Given the description of an element on the screen output the (x, y) to click on. 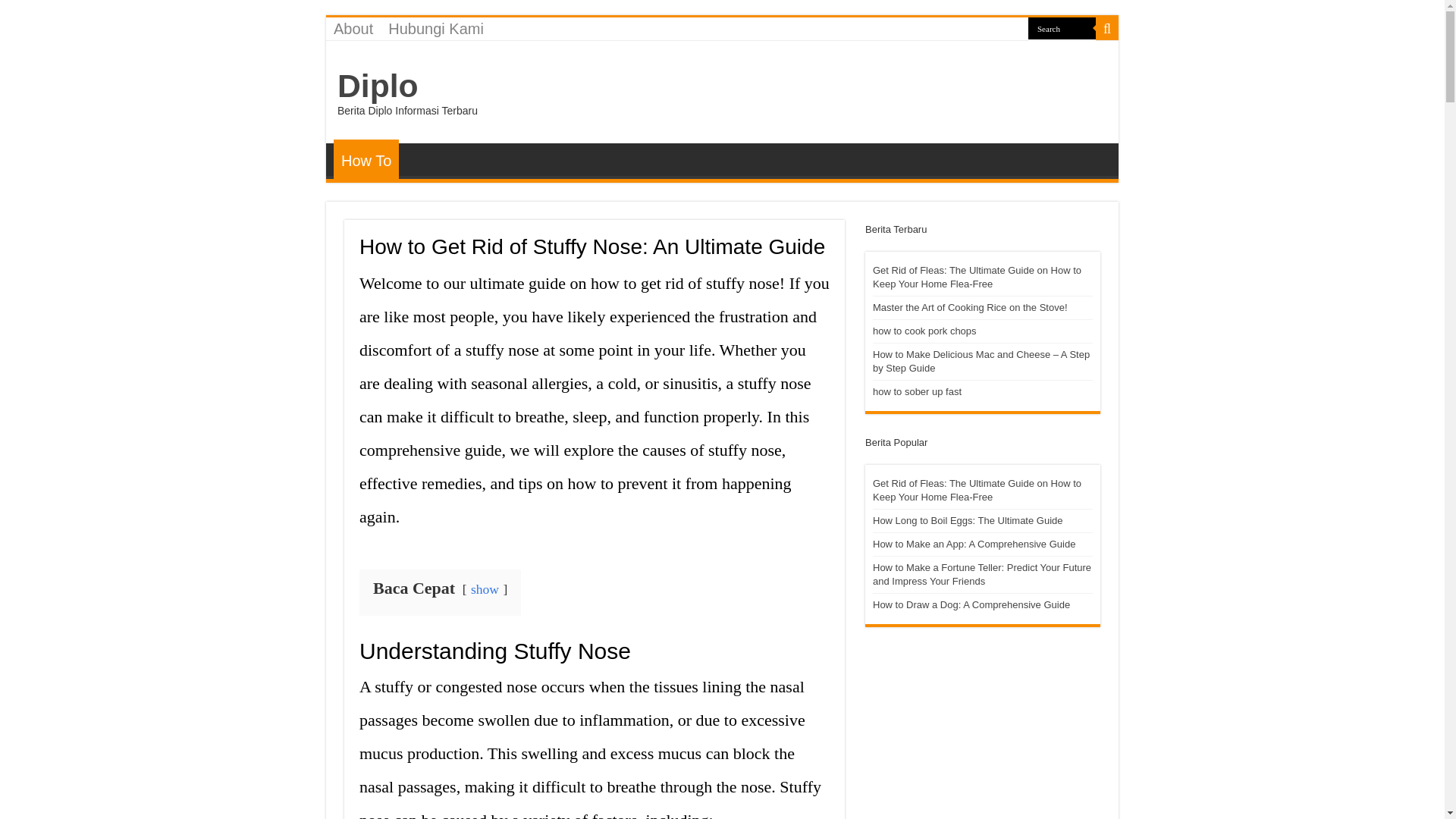
Diplo (378, 85)
Search (1061, 28)
How To (365, 159)
Search (1061, 28)
Search (1107, 28)
About (353, 28)
Search (1061, 28)
show (484, 589)
Hubungi Kami (436, 28)
